Given the description of an element on the screen output the (x, y) to click on. 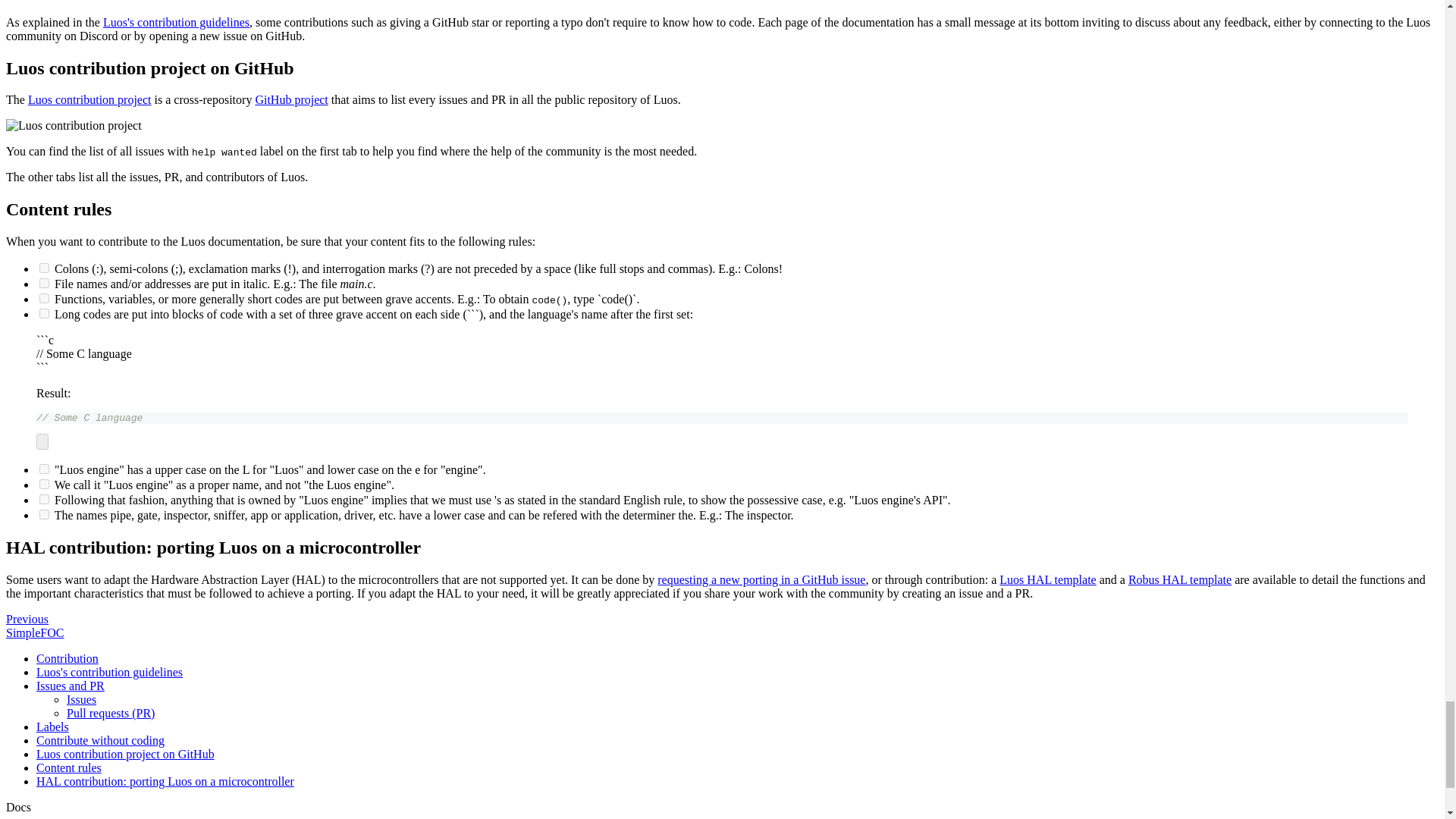
on (44, 267)
Copy (42, 441)
on (44, 298)
on (44, 283)
